Given the description of an element on the screen output the (x, y) to click on. 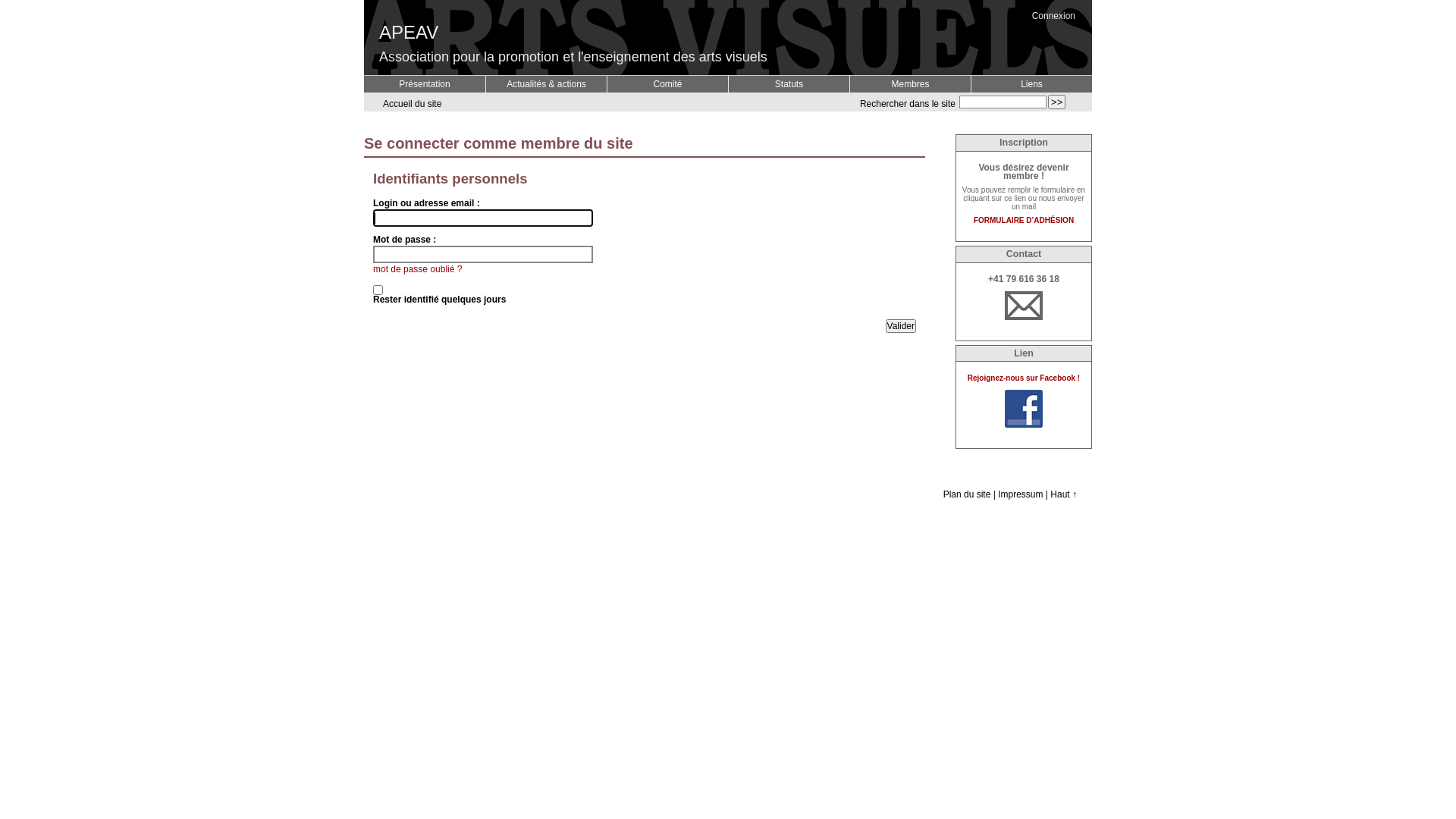
Impressum Element type: text (1019, 494)
Membres Element type: text (909, 83)
Rejoignez-nous sur Facebook ! Element type: text (1023, 377)
Rechercher Element type: hover (1056, 101)
Valider Element type: text (900, 325)
Statuts Element type: text (788, 83)
Connexion Element type: text (1053, 15)
Accueil du site Element type: text (410, 103)
Liens Element type: text (1031, 83)
>> Element type: text (1056, 101)
APEAV Element type: text (408, 42)
Plan du site Element type: text (967, 494)
